Given the description of an element on the screen output the (x, y) to click on. 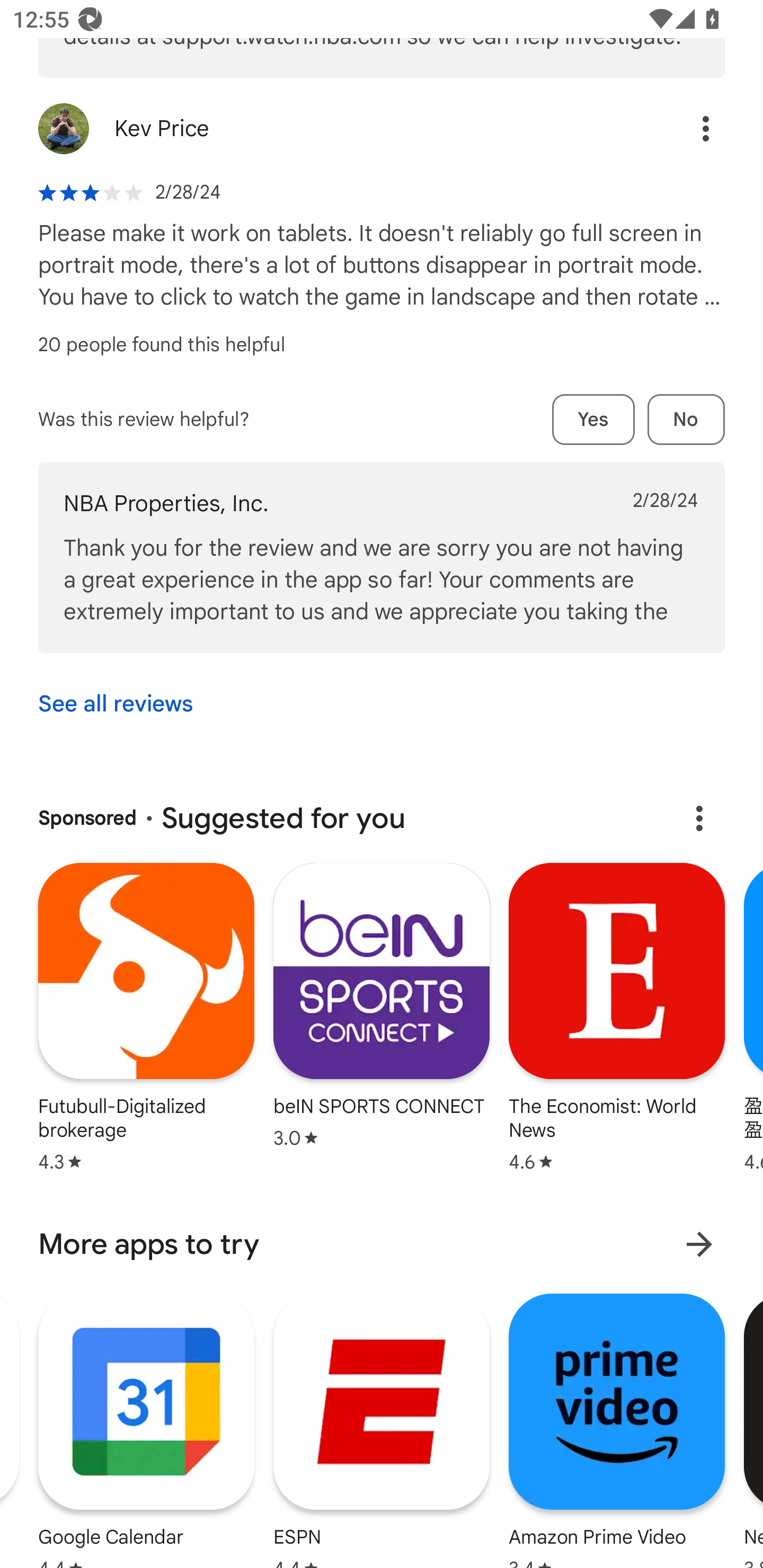
Options (686, 128)
Yes (593, 419)
No (685, 419)
See all reviews (115, 703)
About this ad (699, 818)
Futubull-Digitalized brokerage
Star rating: 4.3
 (146, 1019)
beIN SPORTS CONNECT
Star rating: 3.0
 (381, 1007)
The Economist: World News
Star rating: 4.6
 (616, 1019)
More apps to try More results for More apps to try (381, 1243)
More results for More apps to try (699, 1243)
Google Calendar
Star rating: 4.4
 (145, 1428)
ESPN
Star rating: 4.4
 (381, 1428)
Amazon Prime Video
Star rating: 3.4
 (616, 1428)
